Given the description of an element on the screen output the (x, y) to click on. 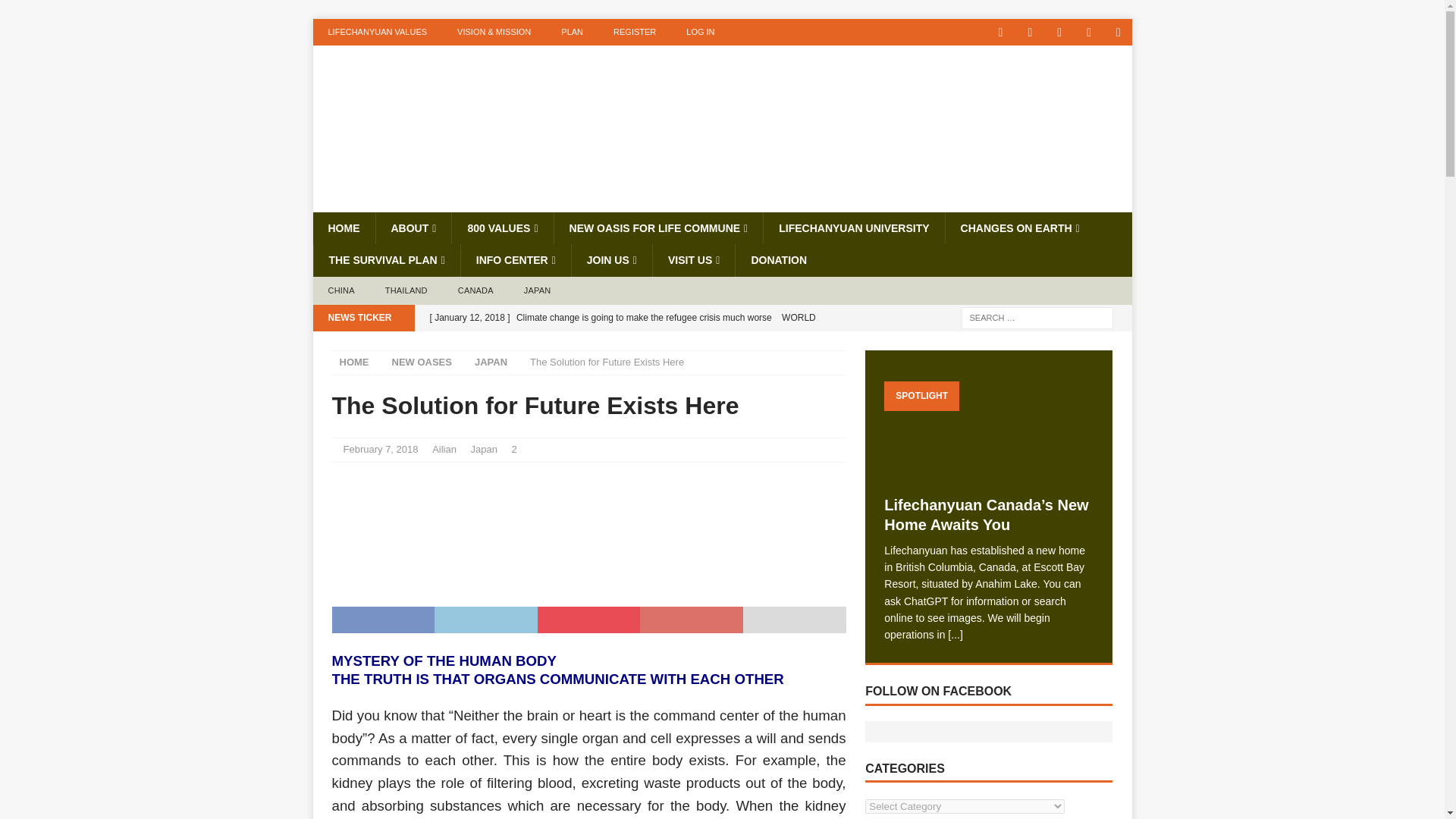
CHANGES ON EARTH (1019, 228)
ABOUT (412, 228)
LIFECHANYUAN UNIVERSITY (852, 228)
HOME (343, 228)
PLAN (572, 31)
REGISTER (634, 31)
NEW OASIS FOR LIFE COMMUNE (657, 228)
LIFECHANYUAN VALUES (377, 31)
LOG IN (700, 31)
